Given the description of an element on the screen output the (x, y) to click on. 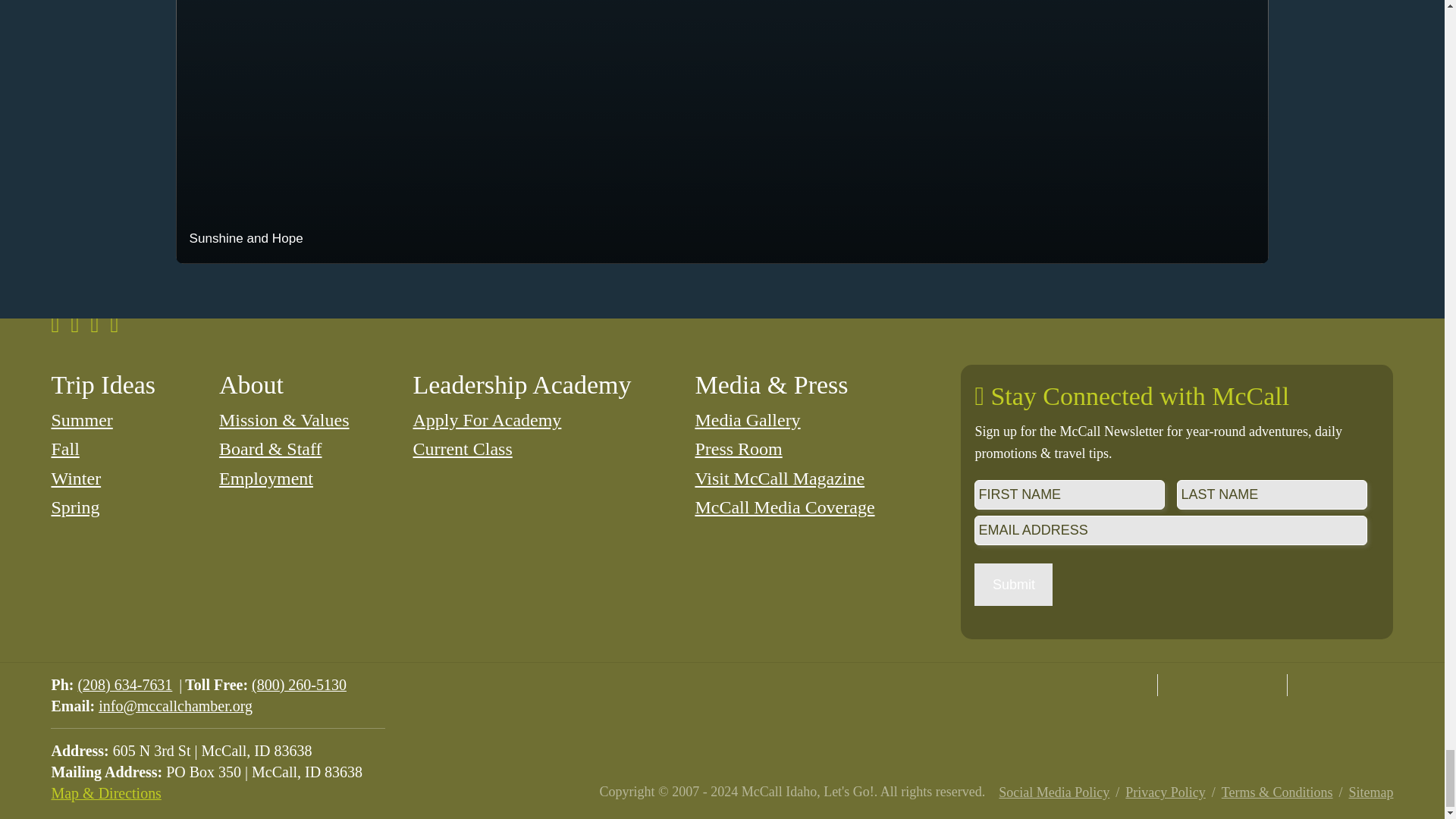
Submit (1013, 584)
Visit McCall (1092, 685)
